Given the description of an element on the screen output the (x, y) to click on. 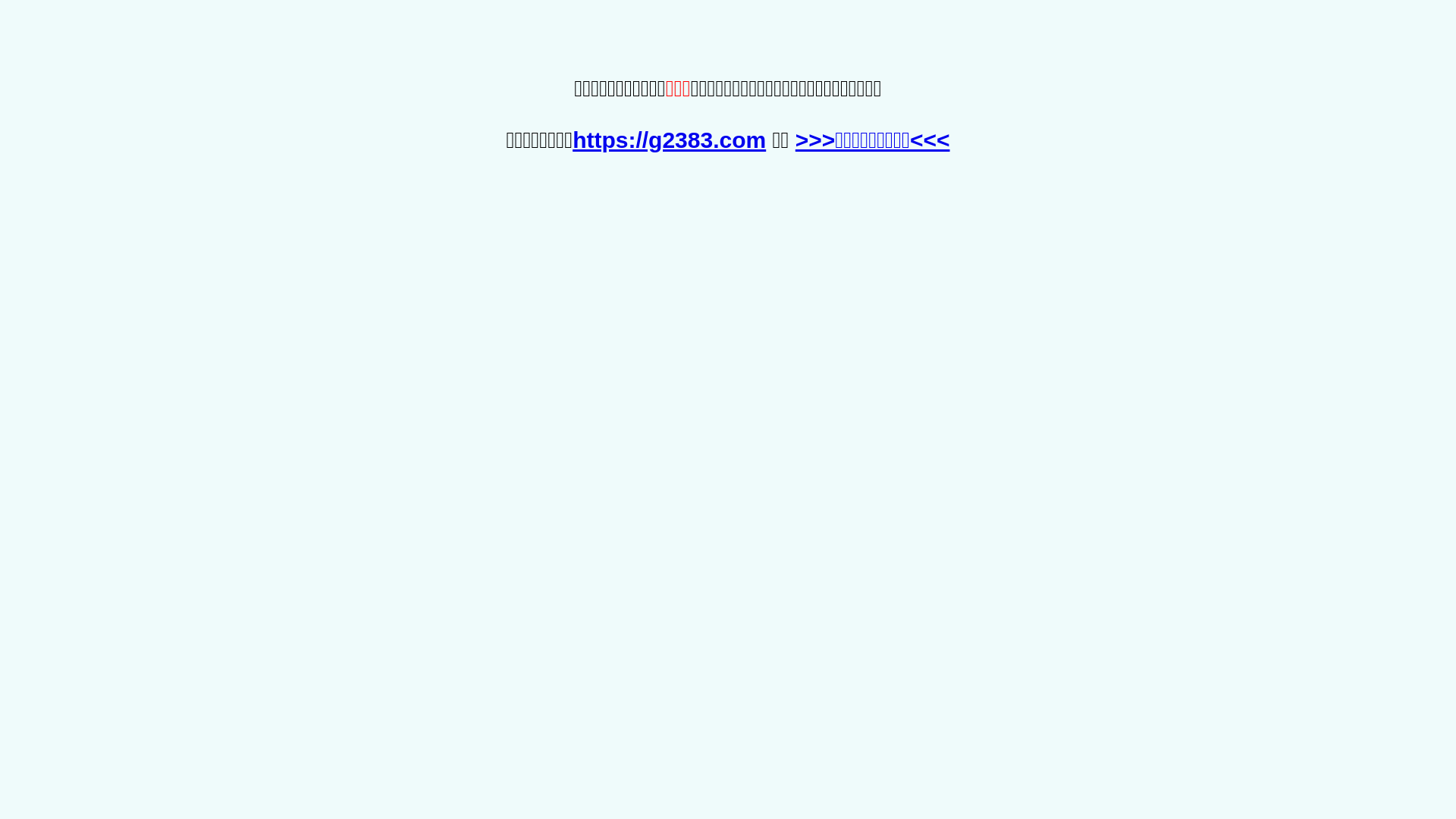
https://g2383.com Element type: text (668, 139)
